Given the description of an element on the screen output the (x, y) to click on. 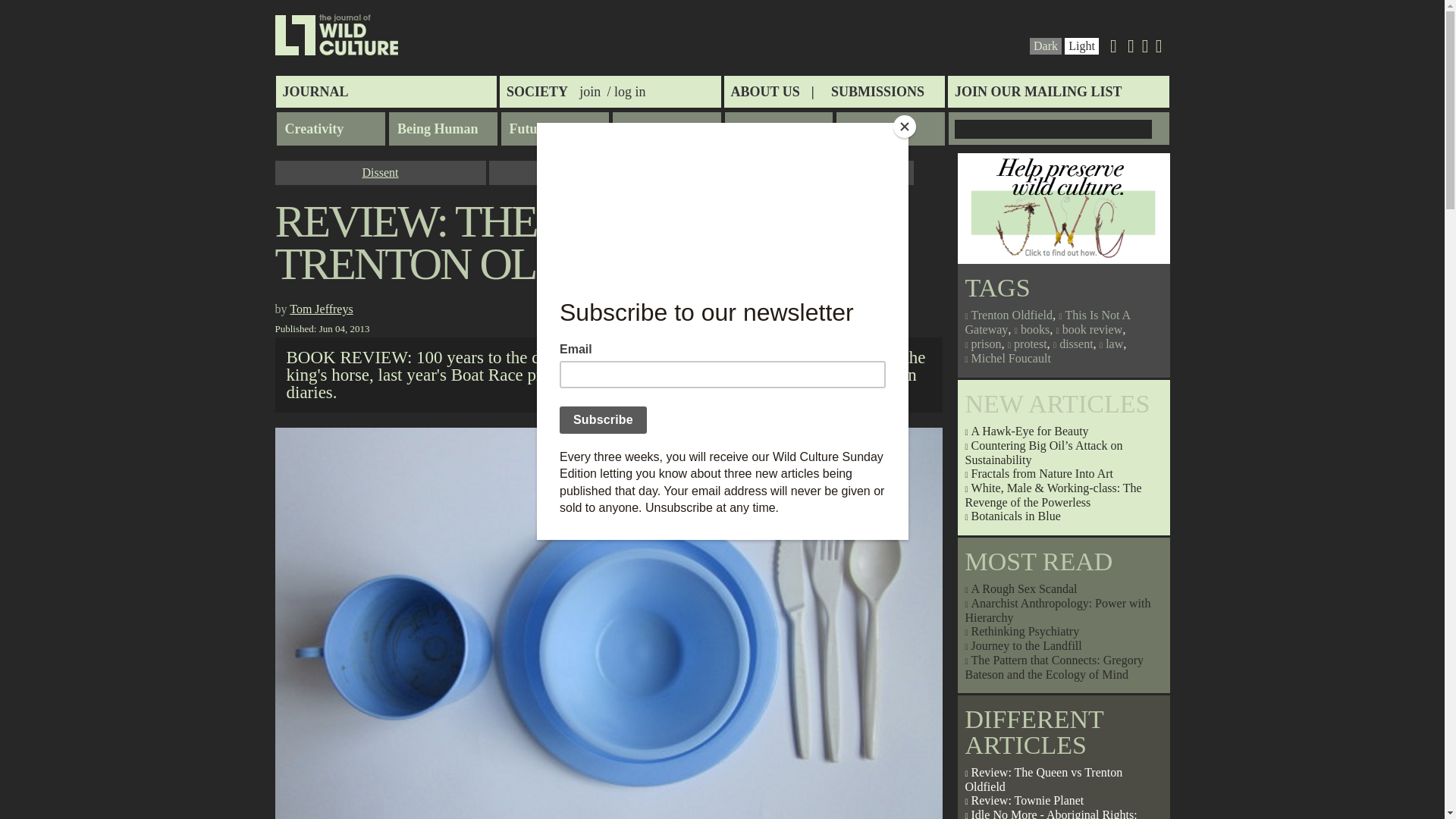
Creativity (330, 128)
Futures (554, 128)
ABOUT US (772, 91)
Facebook (1145, 47)
SUBMISSIONS (877, 91)
Click to change background colour. (1081, 45)
SOCIETY (537, 91)
Click to change background colour. (1045, 45)
Being Human (442, 128)
Linkedin (1131, 47)
